Given the description of an element on the screen output the (x, y) to click on. 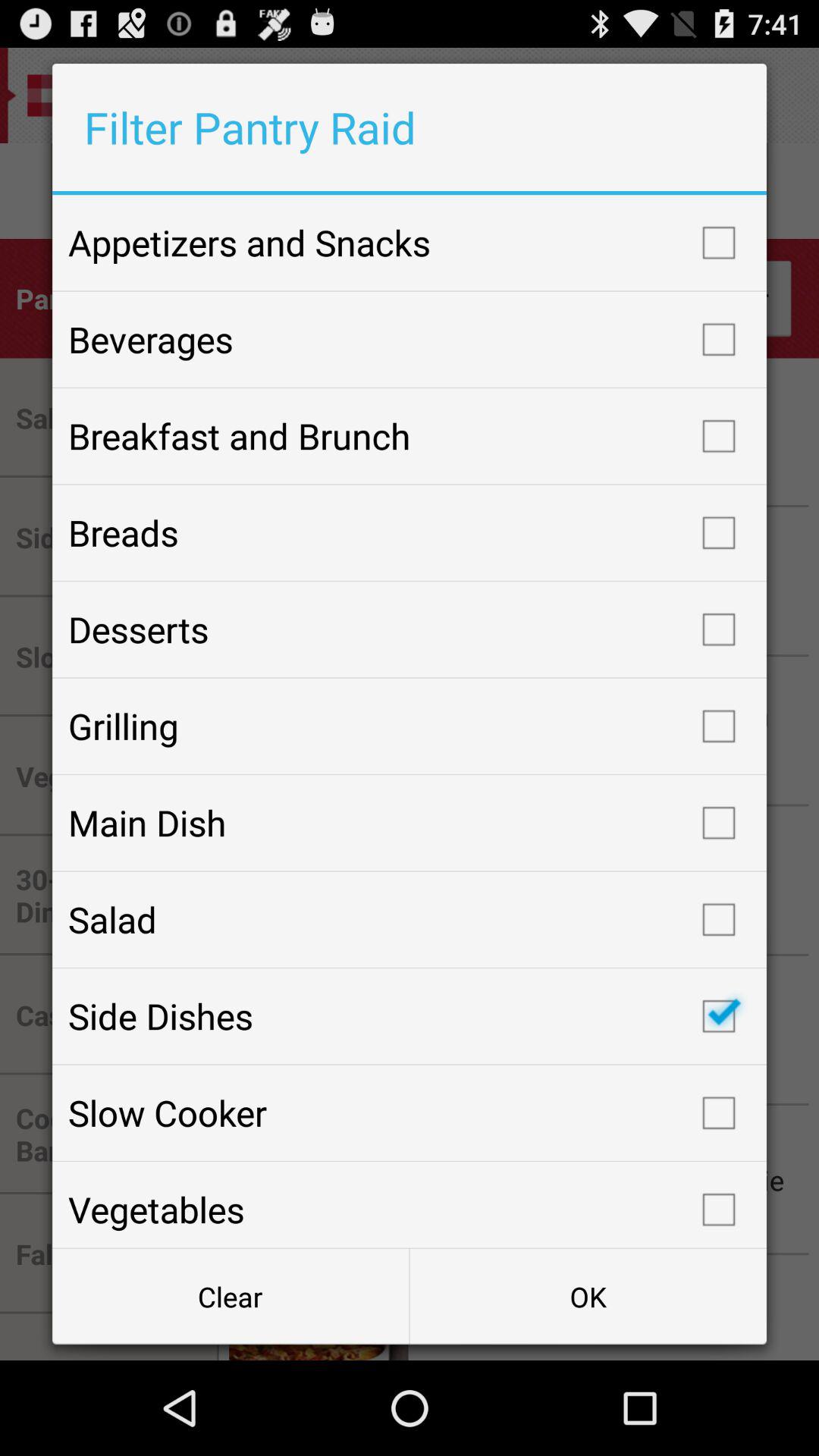
swipe until beverages item (409, 339)
